Given the description of an element on the screen output the (x, y) to click on. 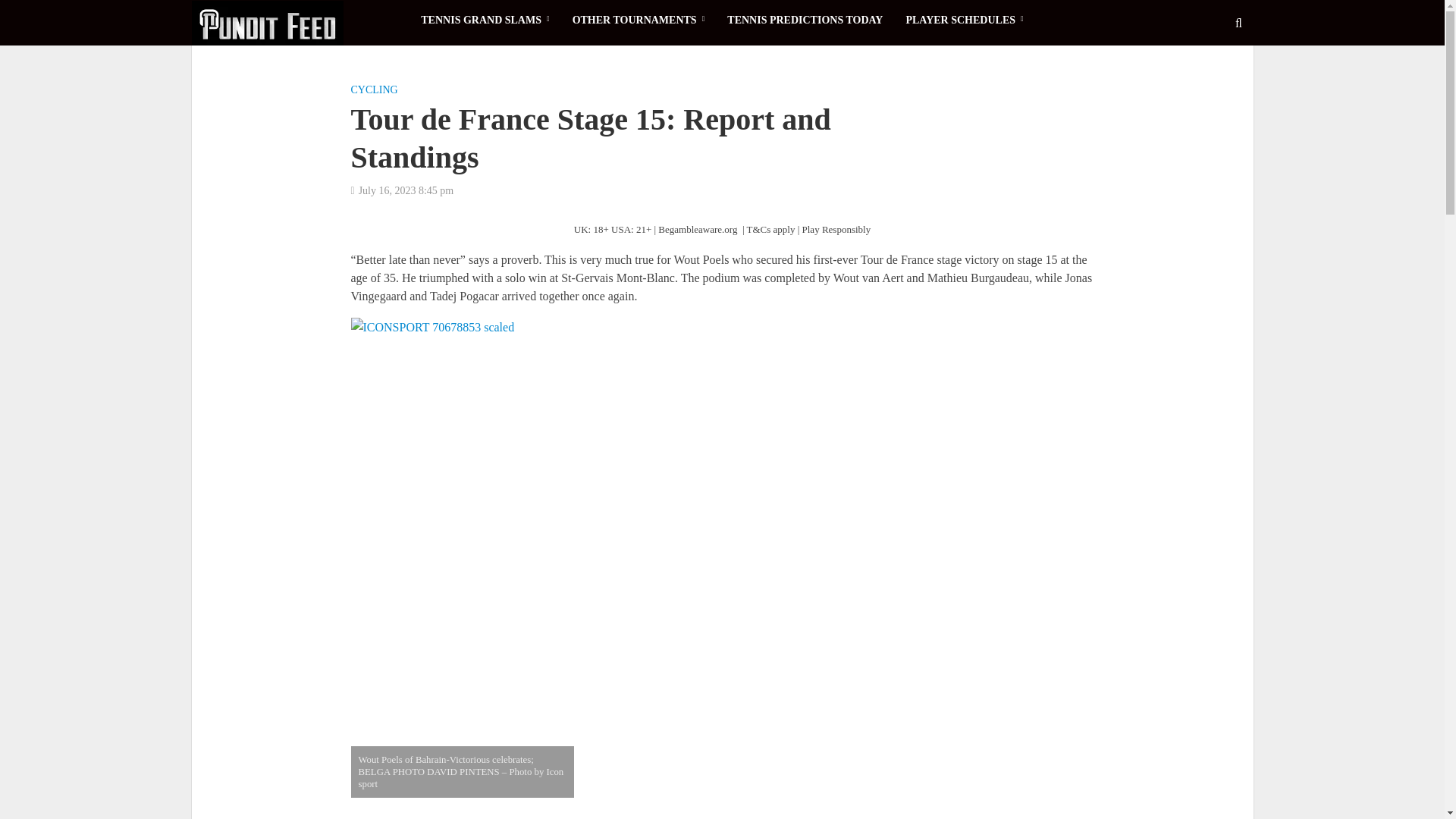
CYCLING (373, 91)
OTHER TOURNAMENTS (638, 20)
TENNIS GRAND SLAMS (484, 20)
TENNIS PREDICTIONS TODAY (804, 20)
PLAYER SCHEDULES (963, 20)
